Given the description of an element on the screen output the (x, y) to click on. 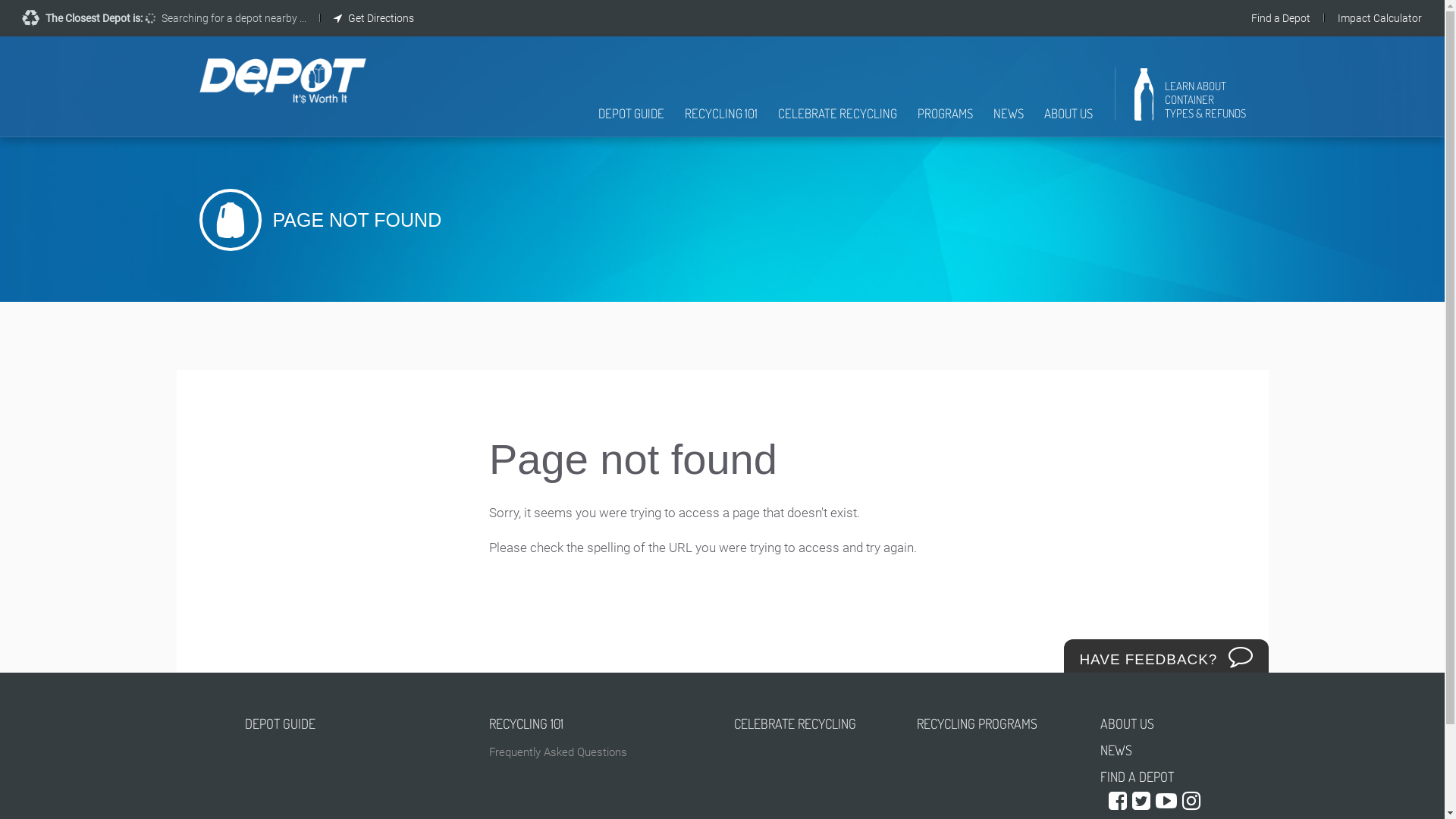
PROGRAMS Element type: text (944, 121)
ABOUT US Element type: text (1149, 723)
RECYCLING 101 Element type: text (720, 121)
NEWS Element type: text (1149, 750)
Get Directions Element type: text (373, 18)
ABOUT US Element type: text (1067, 121)
Find a Depot Element type: text (1280, 18)
Impact Calculator Element type: text (1379, 18)
LEARN ABOUT
CONTAINER
TYPES & REFUNDS Element type: text (1189, 99)
Frequently Asked Questions Element type: text (600, 752)
CELEBRATE RECYCLING Element type: text (837, 121)
FIND A DEPOT Element type: text (1149, 776)
CELEBRATE RECYCLING Element type: text (814, 723)
DEPOT GUIDE Element type: text (355, 723)
RECYCLING 101 Element type: text (600, 723)
NEWS Element type: text (1008, 121)
RECYCLING PROGRAMS Element type: text (996, 723)
DEPOT GUIDE Element type: text (630, 121)
